Given the description of an element on the screen output the (x, y) to click on. 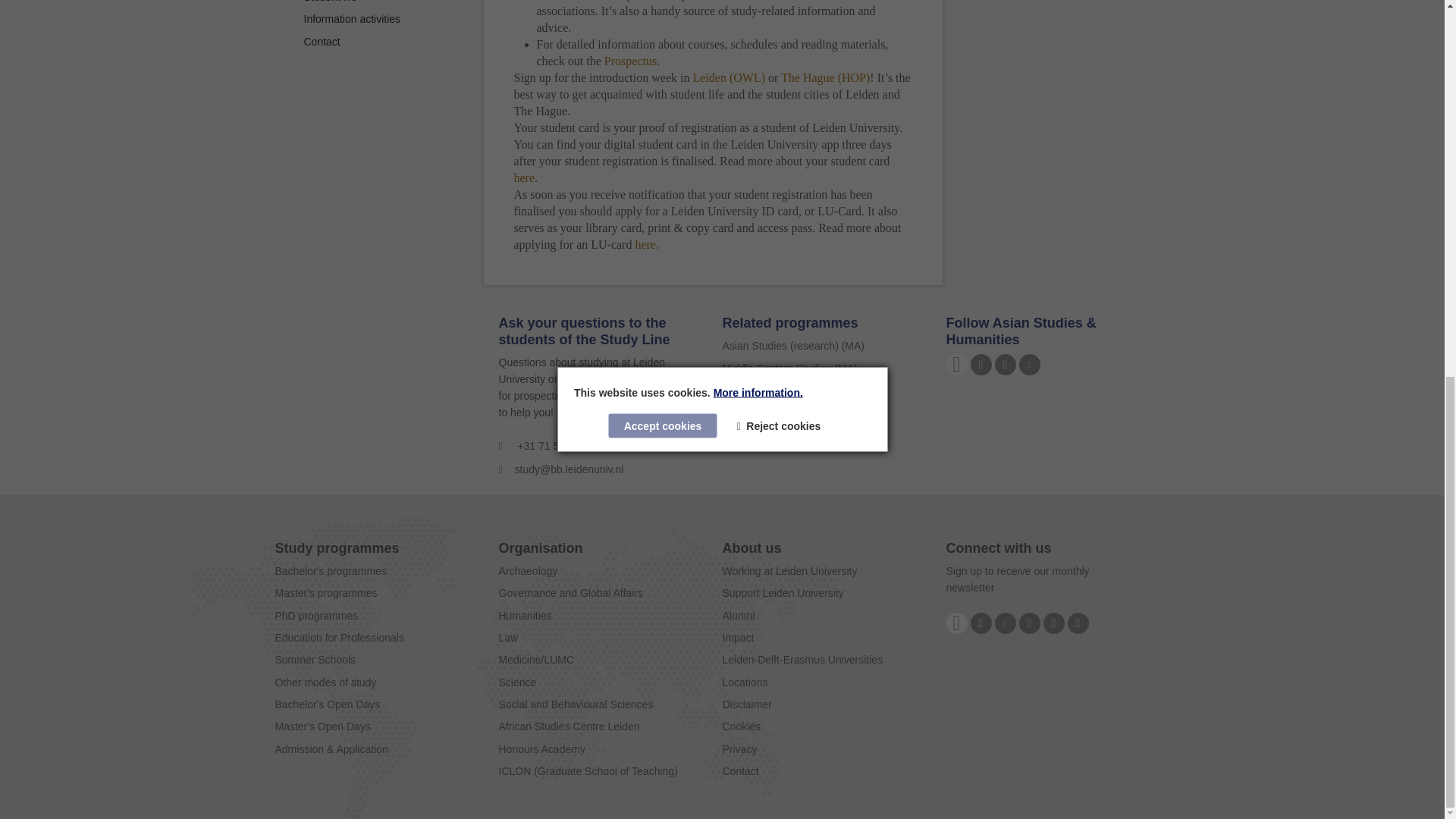
Student life (329, 1)
Contact (320, 41)
Information activities (351, 19)
